Given the description of an element on the screen output the (x, y) to click on. 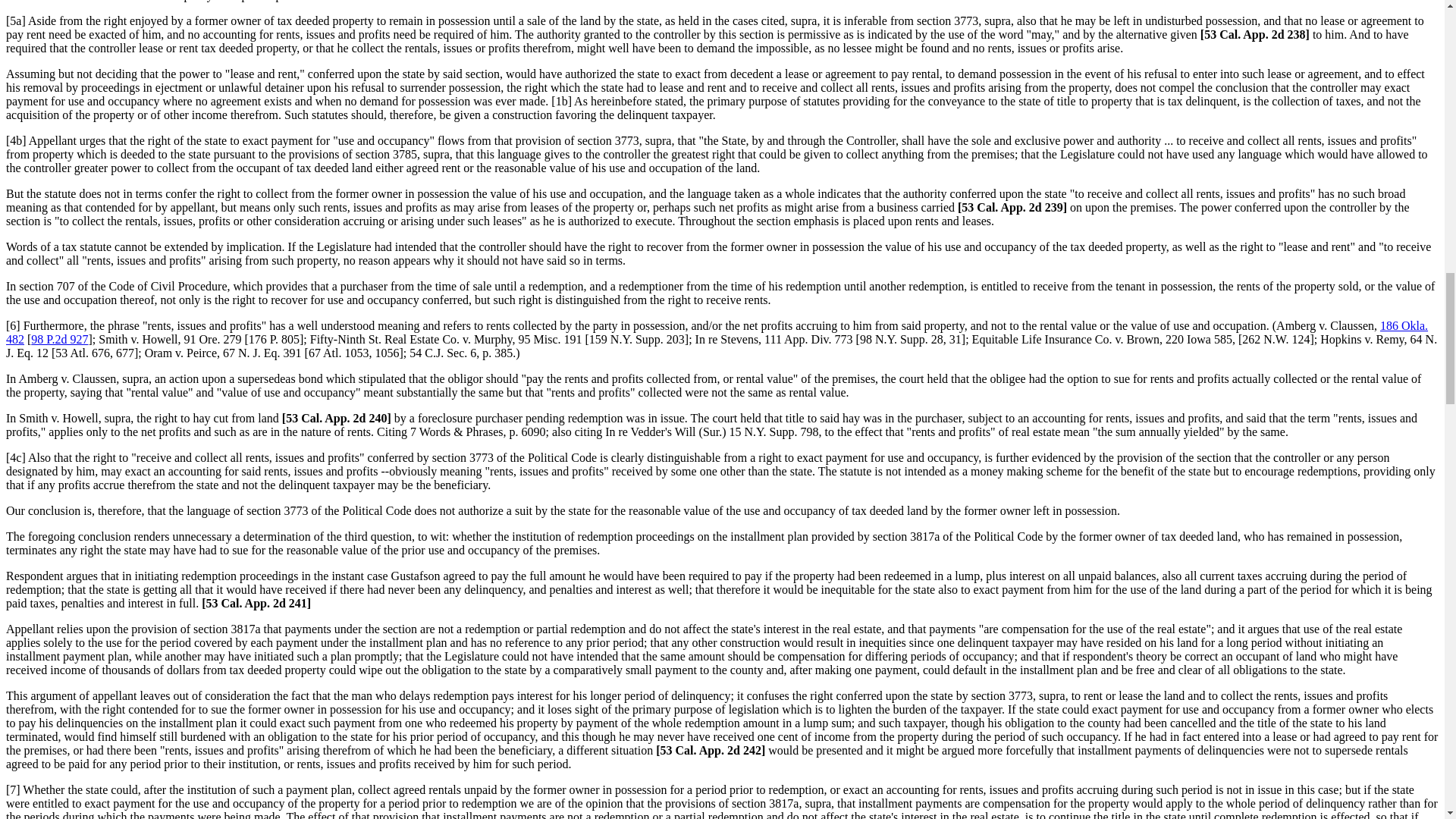
186 Okla. 482 (716, 332)
98 P.2d 927 (58, 338)
